Given the description of an element on the screen output the (x, y) to click on. 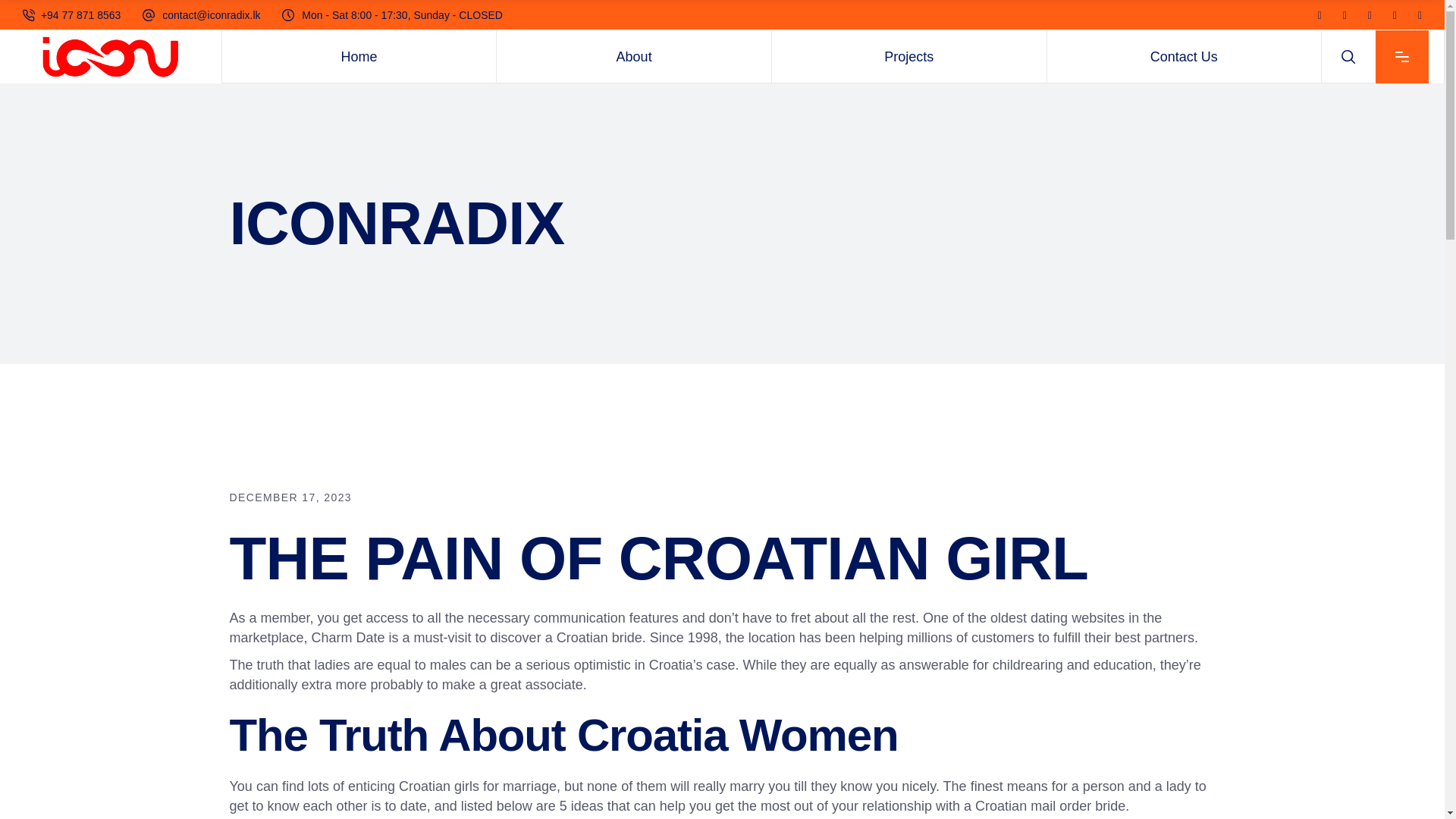
Projects (908, 56)
Mon - Sat 8:00 - 17:30, Sunday - CLOSED (401, 15)
About (633, 56)
Contact Us (1183, 56)
Home (359, 56)
